Given the description of an element on the screen output the (x, y) to click on. 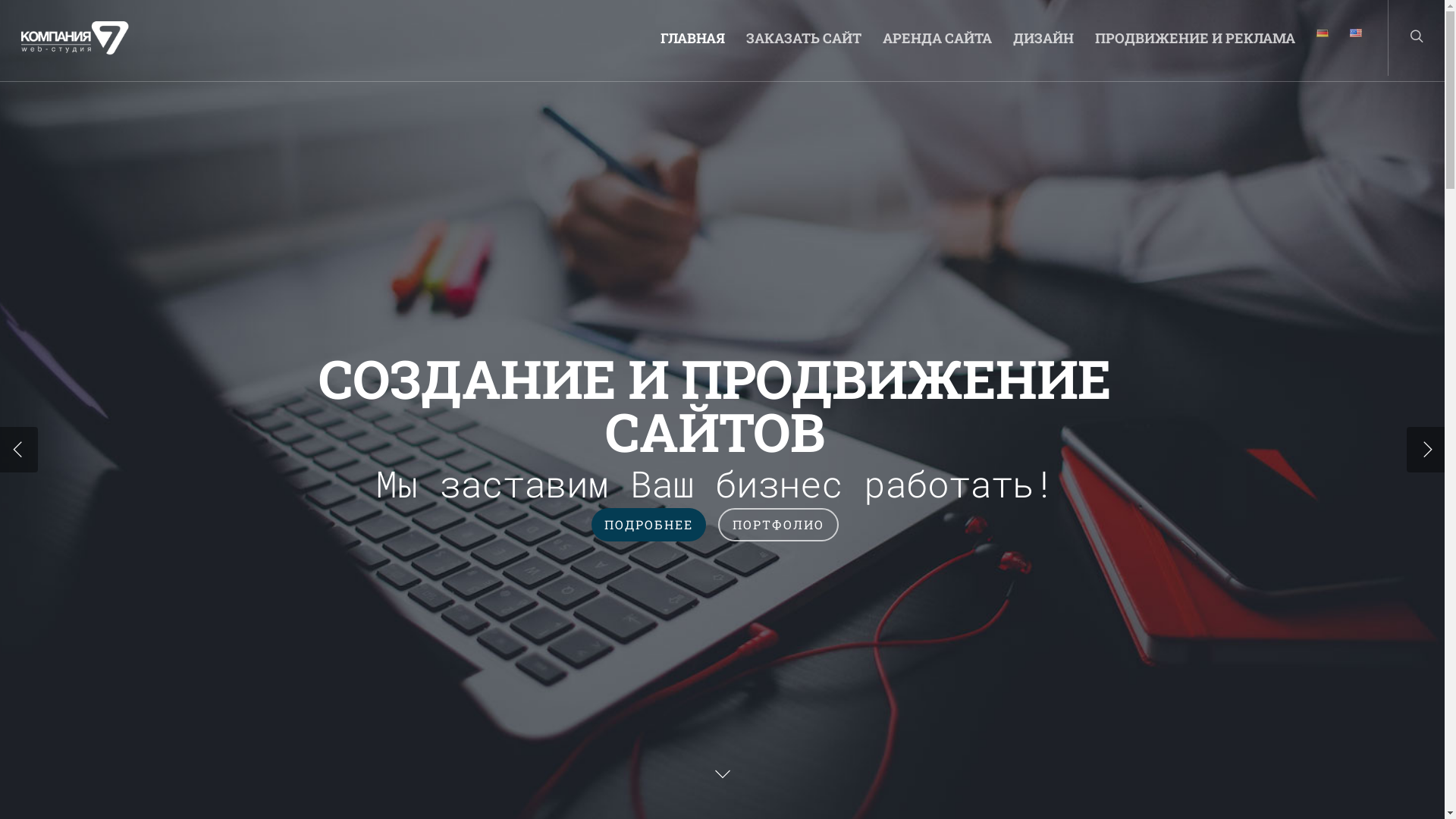
English Element type: hover (1355, 32)
Deutsch Element type: hover (1322, 32)
